Given the description of an element on the screen output the (x, y) to click on. 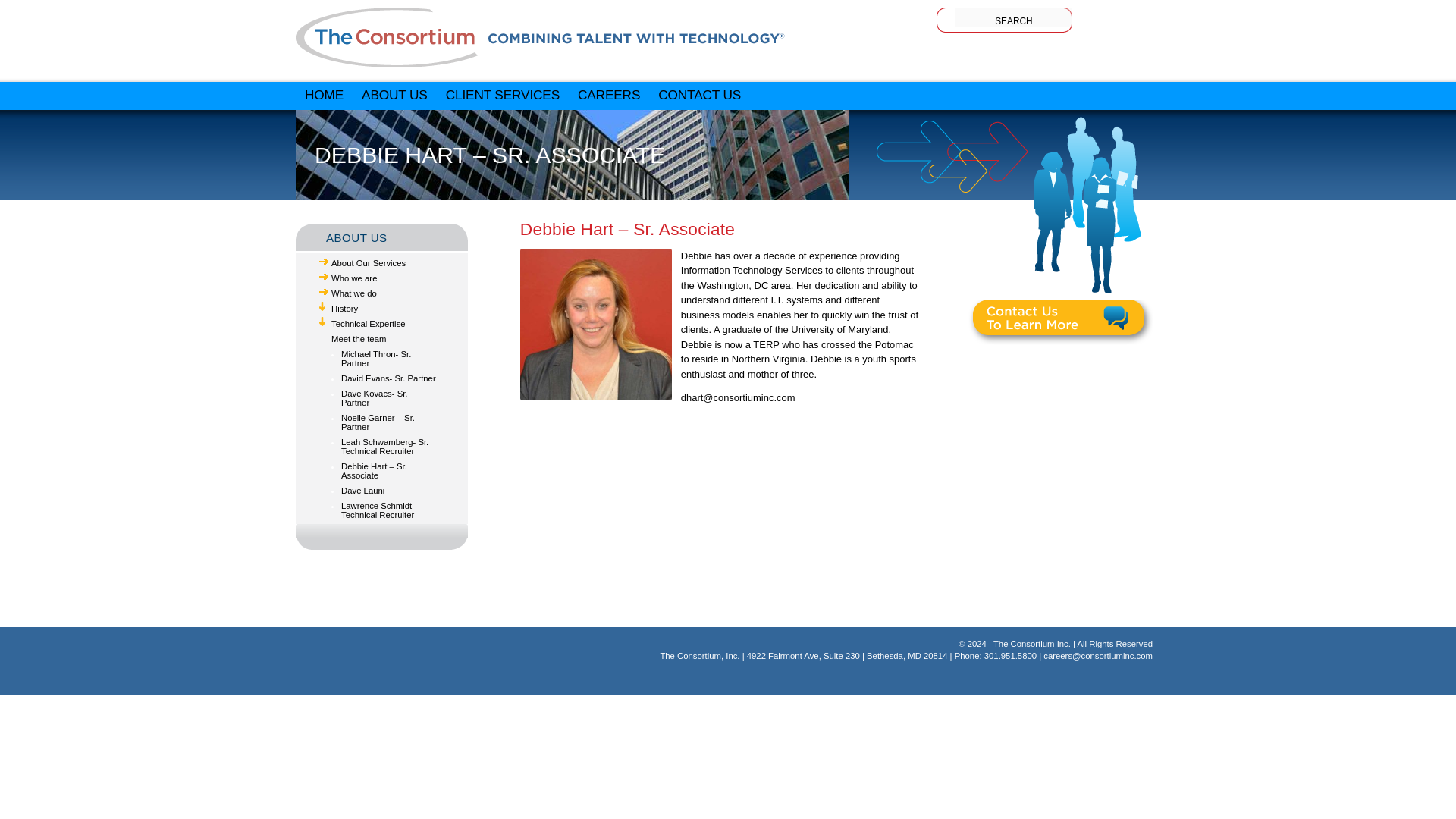
About Our Services (368, 262)
David Evans- Sr. Partner (387, 378)
Michael Thron- Sr. Partner (375, 358)
Dave Launi (362, 490)
Dave Kovacs- Sr. Partner (373, 398)
SEARCH (1013, 17)
HOME (323, 94)
What we do (354, 293)
CONTACT US (699, 94)
ABOUT US (394, 94)
